Given the description of an element on the screen output the (x, y) to click on. 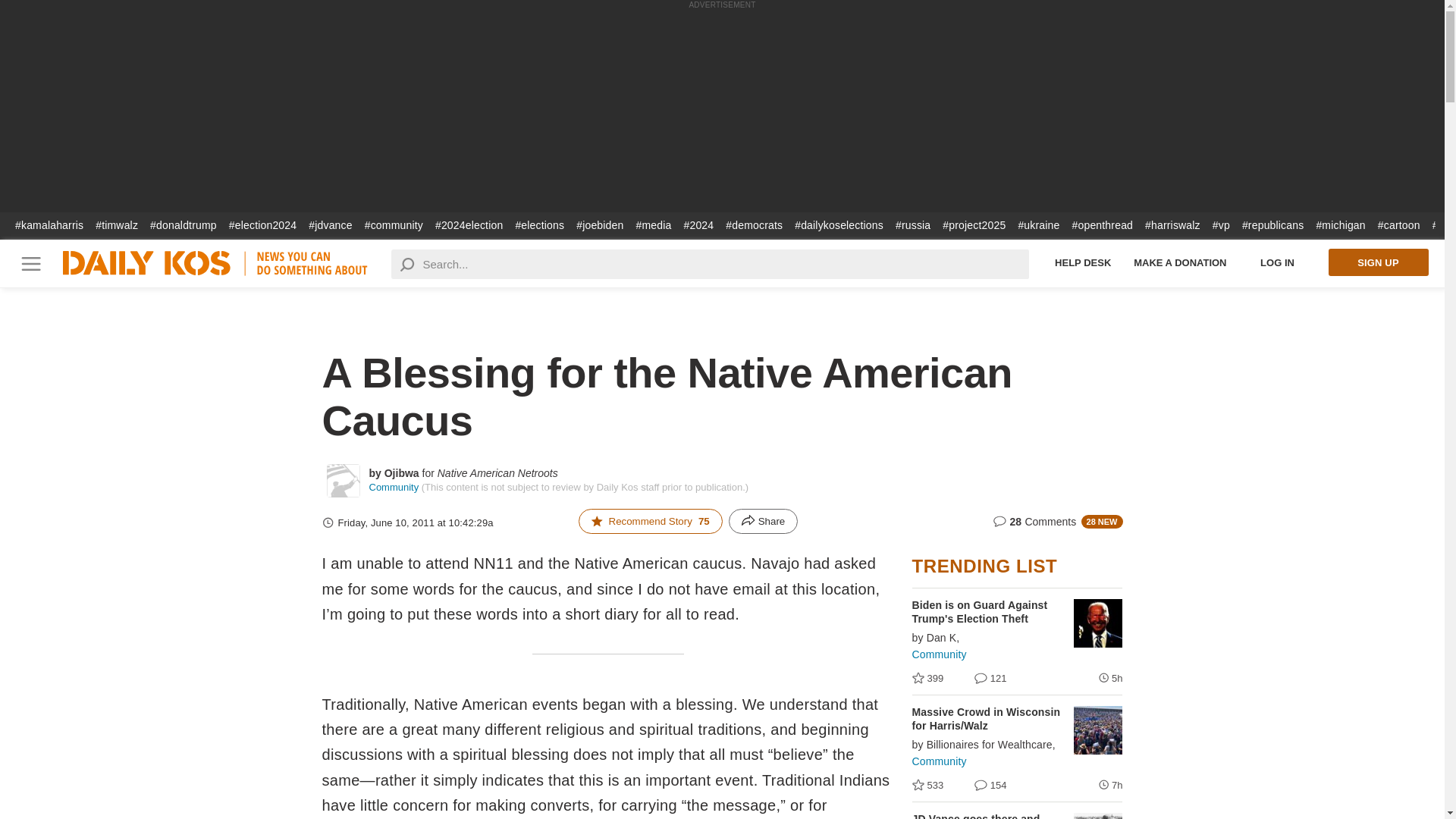
MAKE A DONATION (1179, 262)
Help Desk (1082, 262)
Make a Donation (1179, 262)
